Given the description of an element on the screen output the (x, y) to click on. 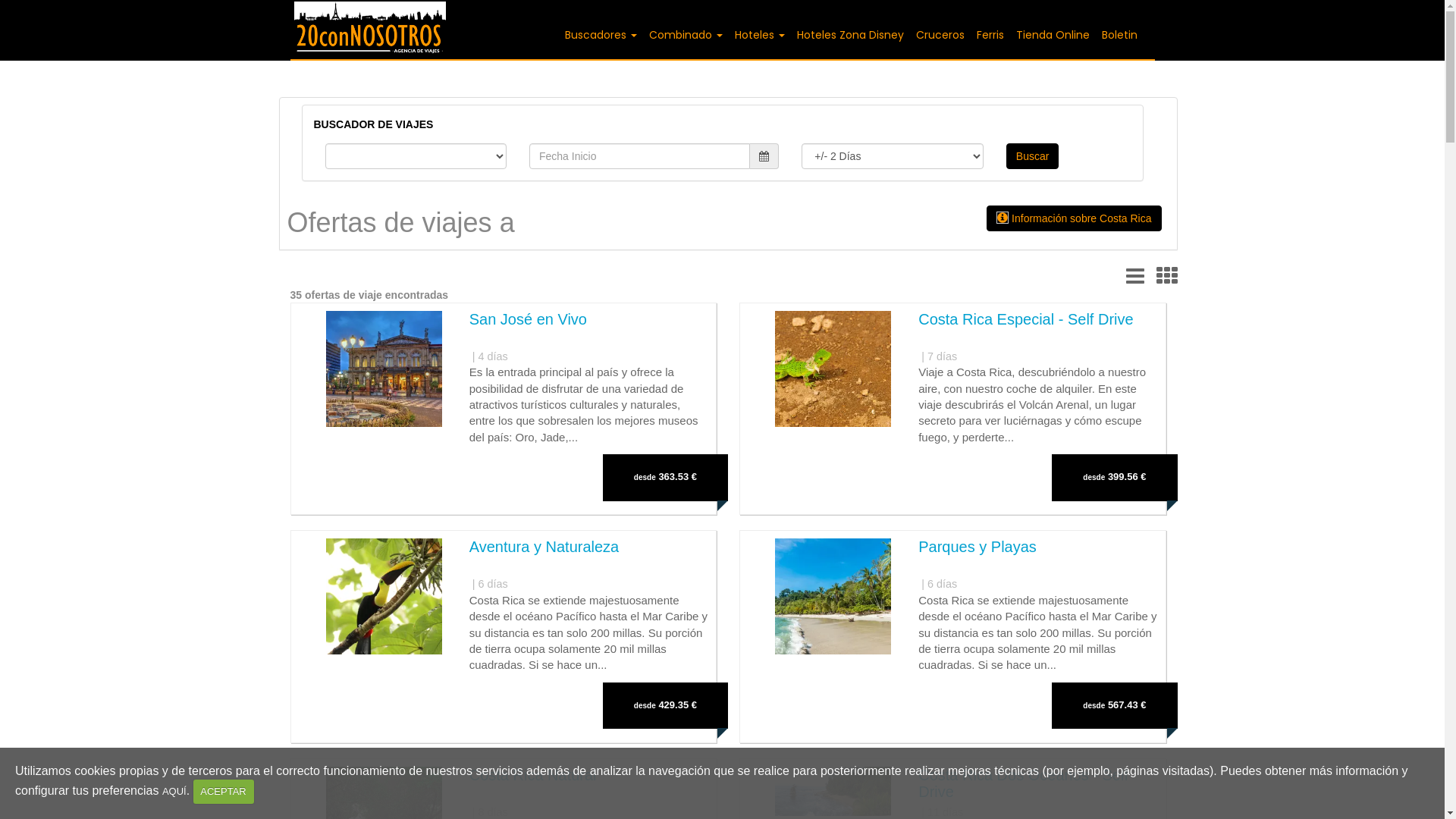
Buscadores Element type: text (600, 34)
ACEPTAR Element type: text (223, 791)
Costa Rica Especial - Self Drive Element type: text (1025, 318)
Ferris Element type: text (990, 34)
Buscar Element type: text (1032, 156)
Cruceros Element type: text (940, 34)
Costa Rica Natural Element type: text (532, 774)
Tienda Online Element type: text (1052, 34)
Parques y Playas Element type: text (977, 546)
Hoteles Zona Disney Element type: text (849, 34)
Combinado Element type: text (685, 34)
Boletin Element type: text (1118, 34)
Hoteles Element type: text (759, 34)
Aventura y Naturaleza Element type: text (544, 546)
